Given the description of an element on the screen output the (x, y) to click on. 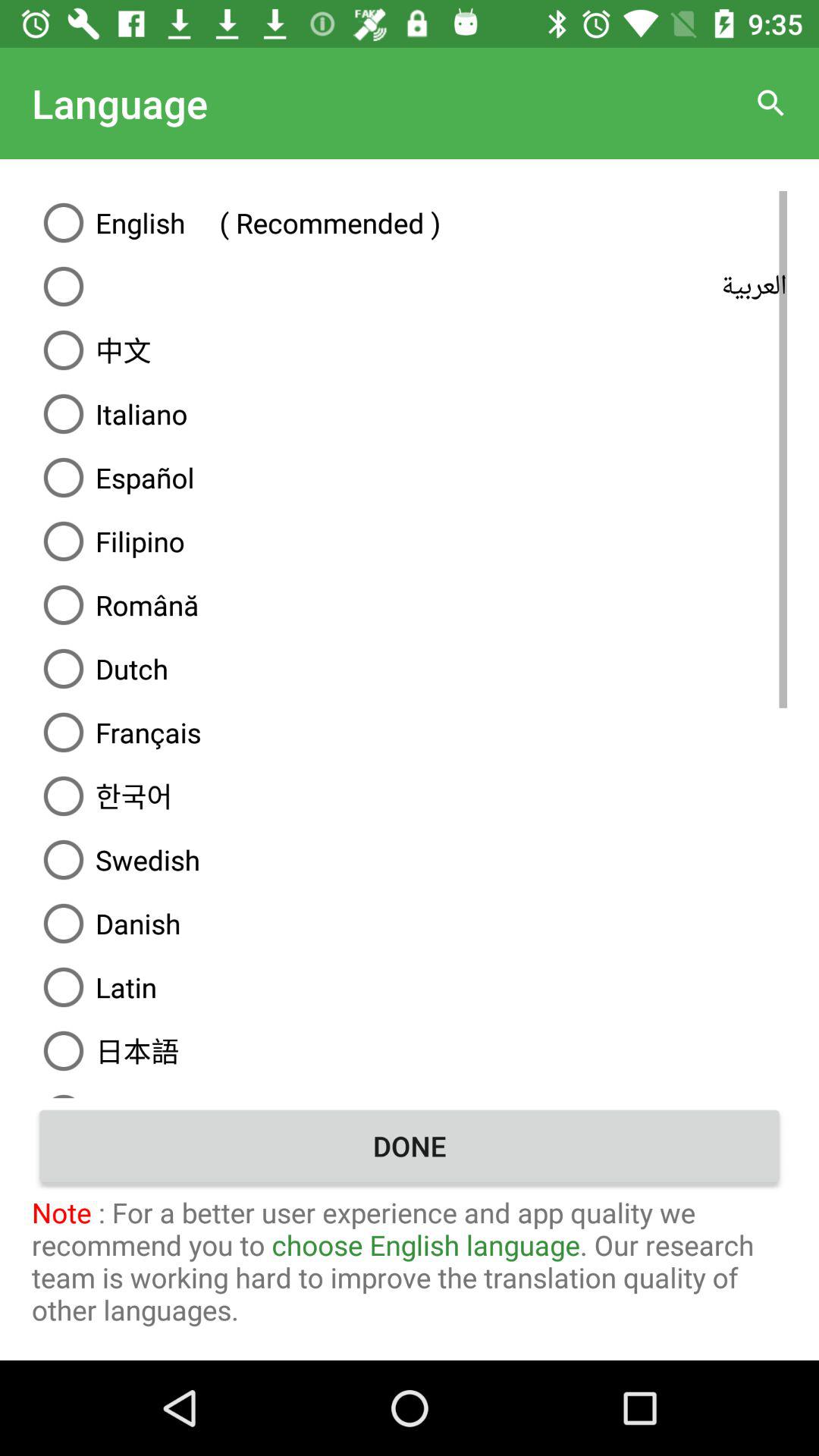
swipe until latin icon (409, 987)
